Given the description of an element on the screen output the (x, y) to click on. 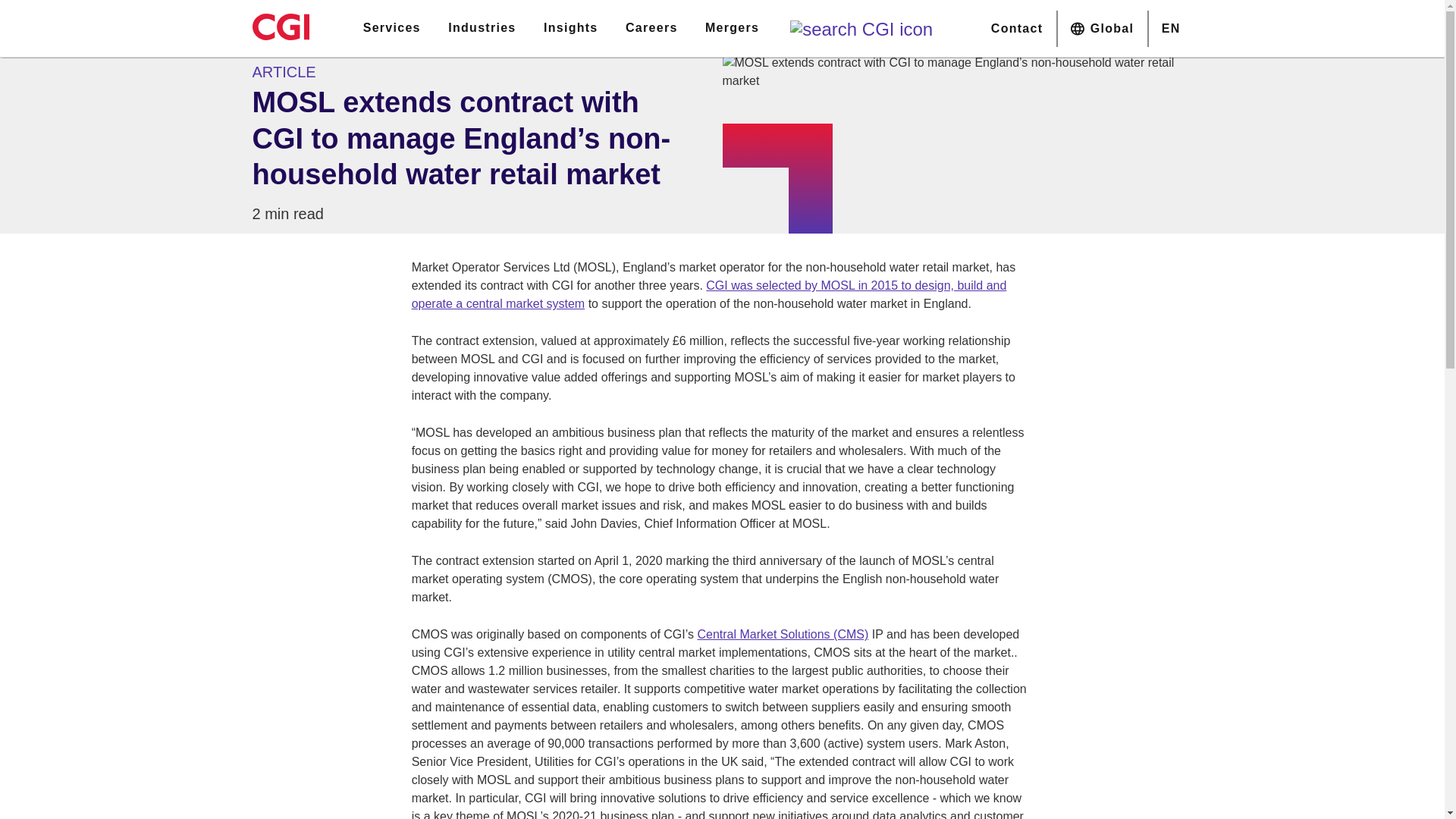
Industries (481, 28)
CGI Homepage (279, 26)
Services (391, 28)
